Given the description of an element on the screen output the (x, y) to click on. 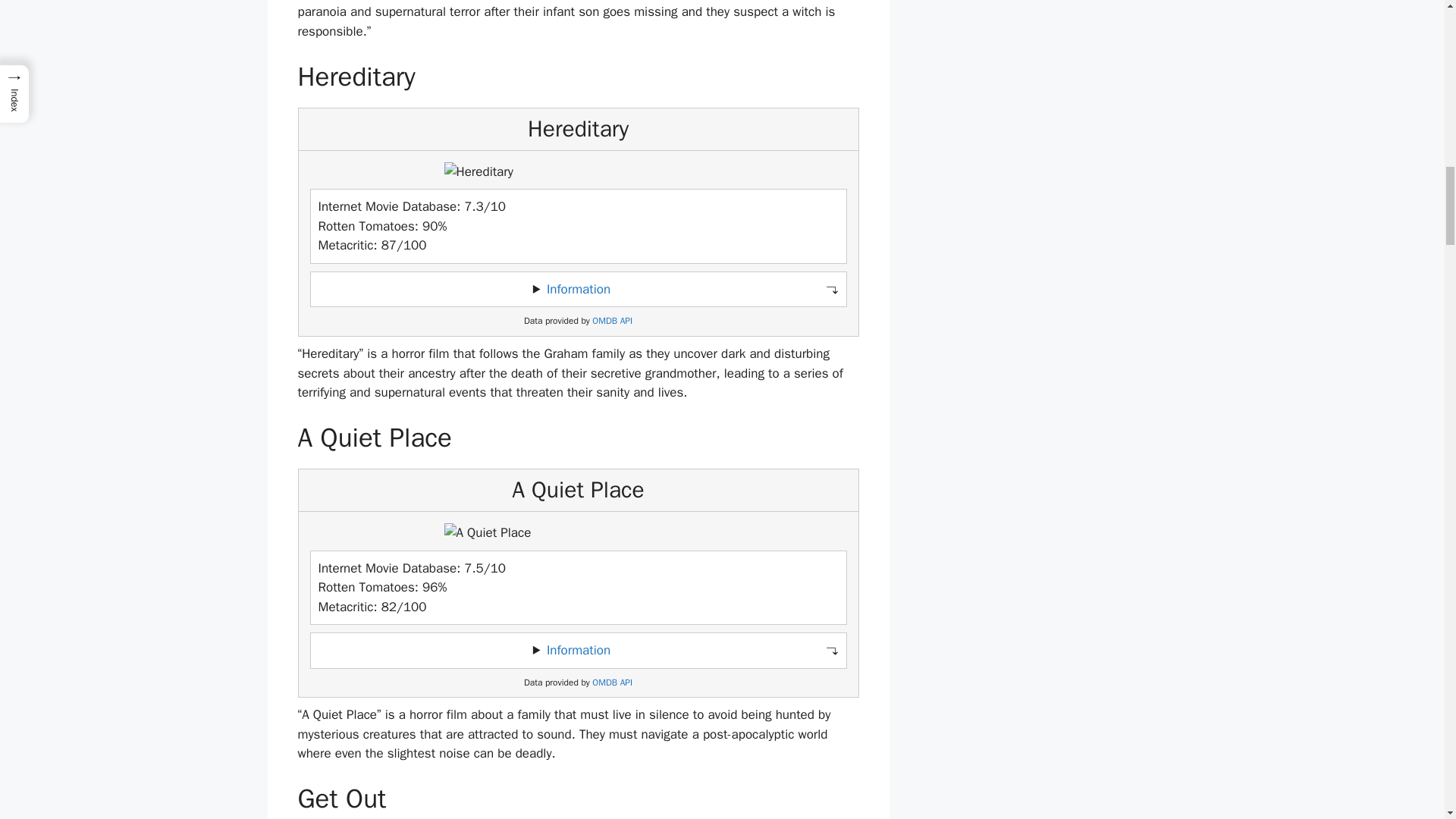
Information (578, 650)
Information (578, 289)
OMDB API (611, 682)
Open Movie Database API (611, 682)
Toggle information (578, 650)
Open Movie Database API (611, 320)
OMDB API (611, 320)
Toggle information (578, 289)
